Given the description of an element on the screen output the (x, y) to click on. 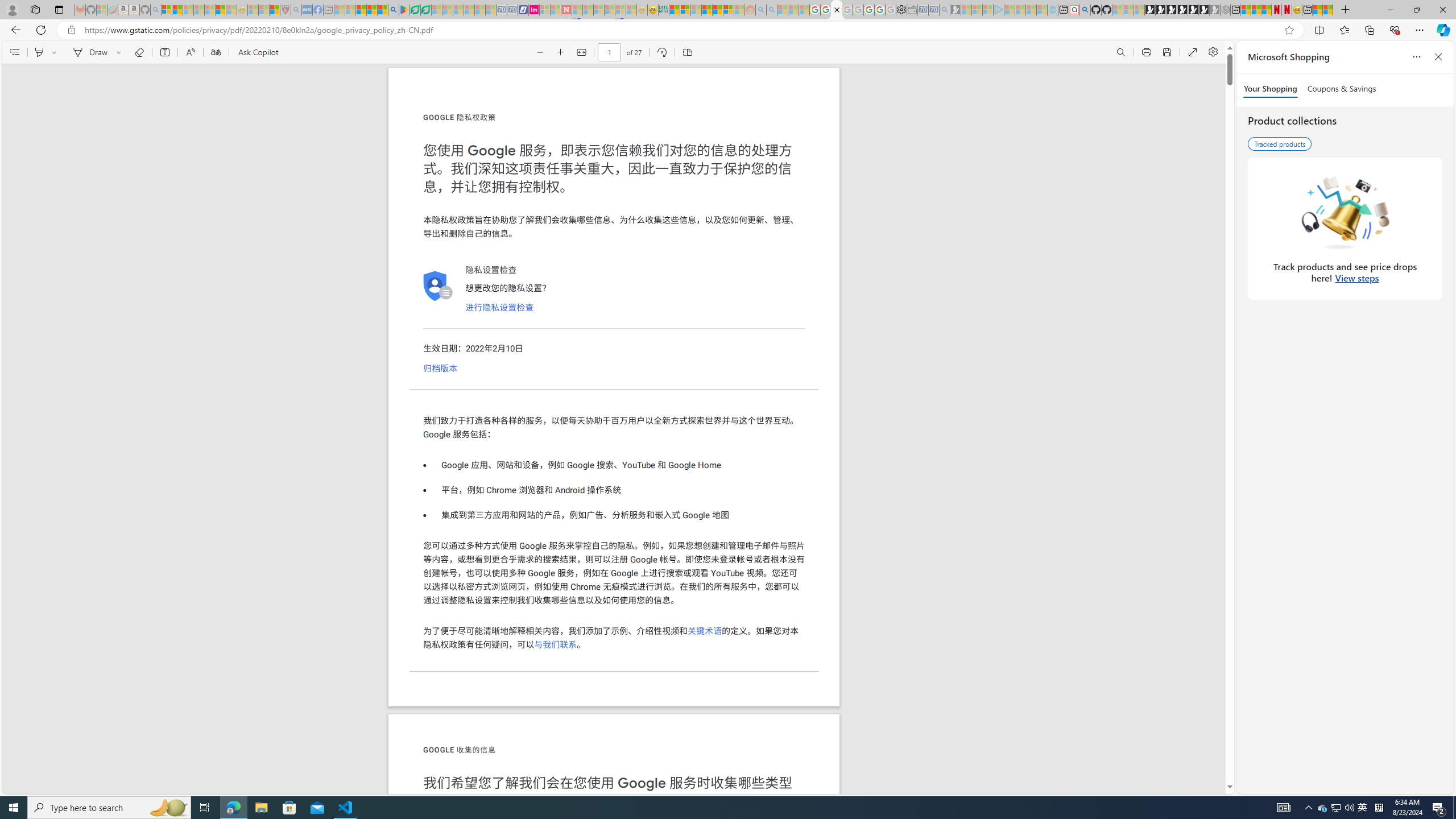
Erase (138, 52)
Page view (687, 52)
Terms of Use Agreement (414, 9)
Local - MSN (274, 9)
